Given the description of an element on the screen output the (x, y) to click on. 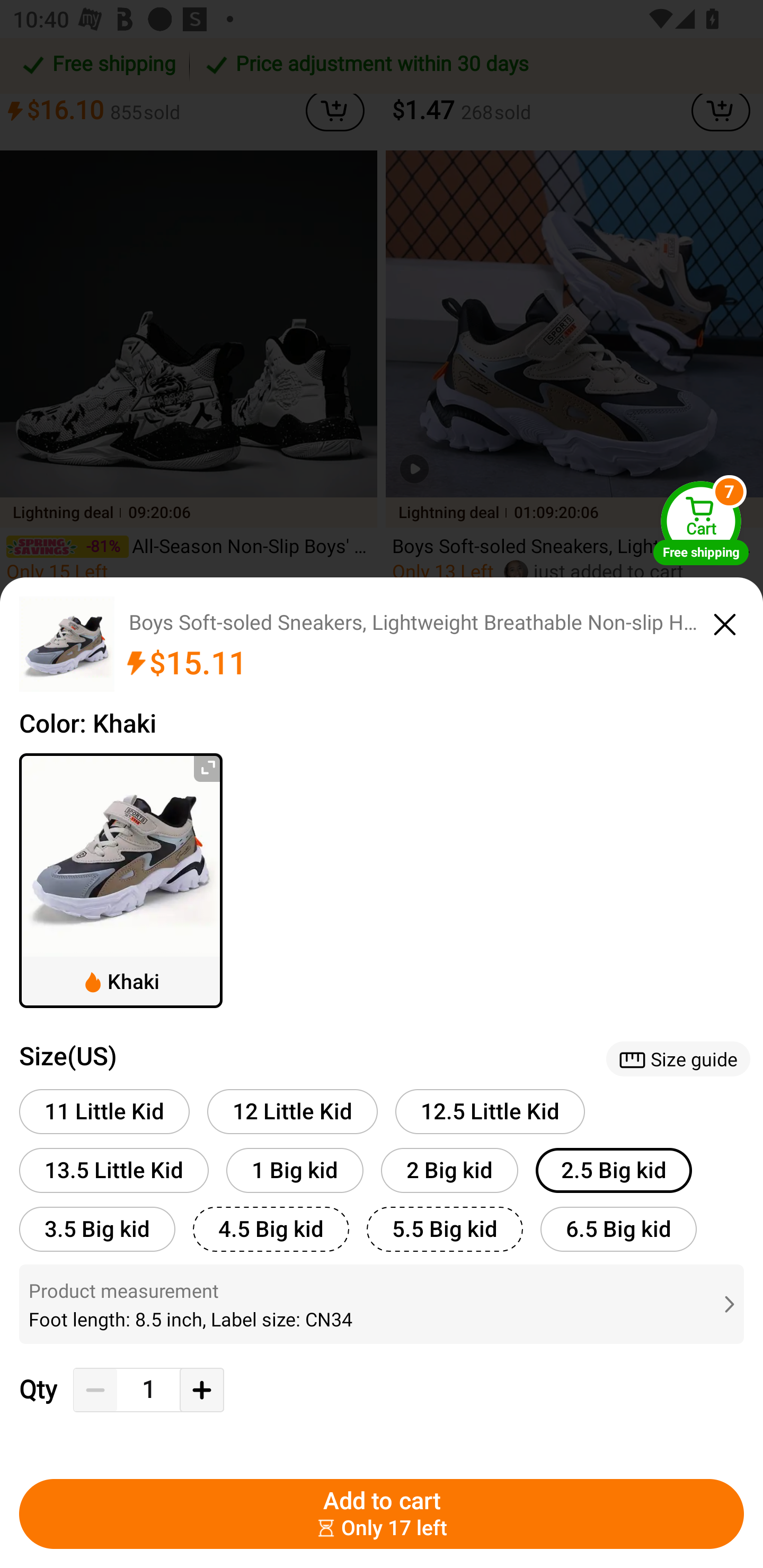
Cart Free shipping Cart (701, 522)
close (724, 621)
Khaki ￼Khaki (120, 880)
￼Size guide (677, 1058)
 11 Little Kid (104, 1111)
 12 Little Kid (292, 1111)
 12.5 Little Kid (490, 1111)
 13.5 Little Kid (114, 1170)
 1 Big kid (294, 1170)
 2 Big kid (449, 1170)
 2.5 Big kid (613, 1170)
 3.5 Big kid (97, 1229)
 4.5 Big kid (271, 1229)
 5.5 Big kid (444, 1229)
 6.5 Big kid (618, 1229)
Decrease Quantity Button (95, 1389)
Add Quantity Button (201, 1389)
1 (148, 1389)
Add to cart ￼￼Only 17 left (381, 1513)
